Given the description of an element on the screen output the (x, y) to click on. 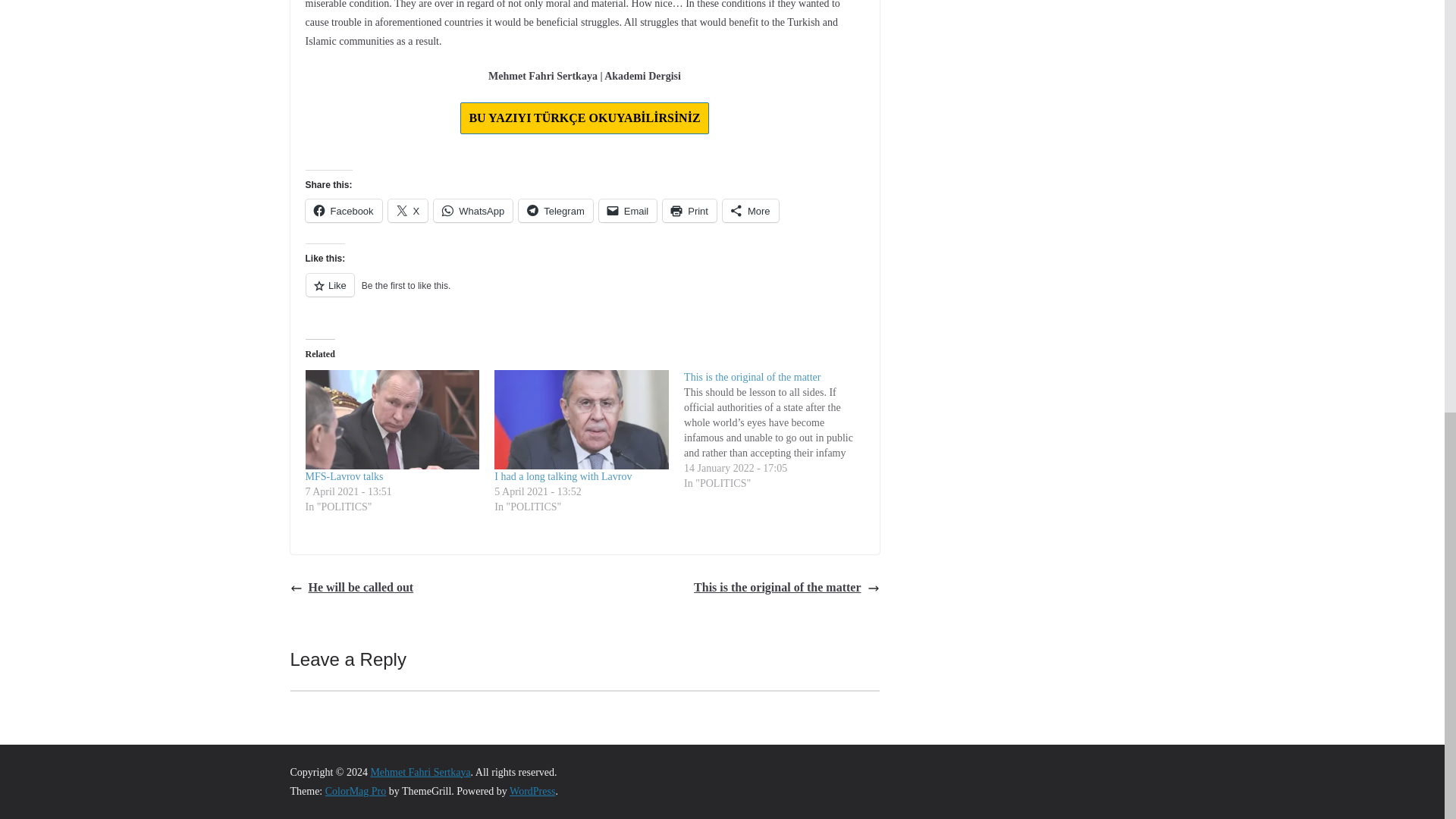
Click to share on Telegram (555, 210)
This is the original of the matter (786, 587)
He will be called out (351, 587)
Telegram (555, 210)
MFS-Lavrov talks (343, 476)
I had a long talking with Lavrov (563, 476)
Click to share on WhatsApp (472, 210)
This is the original of the matter (752, 377)
WhatsApp (472, 210)
Email (628, 210)
Click to share on X (408, 210)
More (750, 210)
Facebook (342, 210)
X (408, 210)
Click to share on Facebook (342, 210)
